Given the description of an element on the screen output the (x, y) to click on. 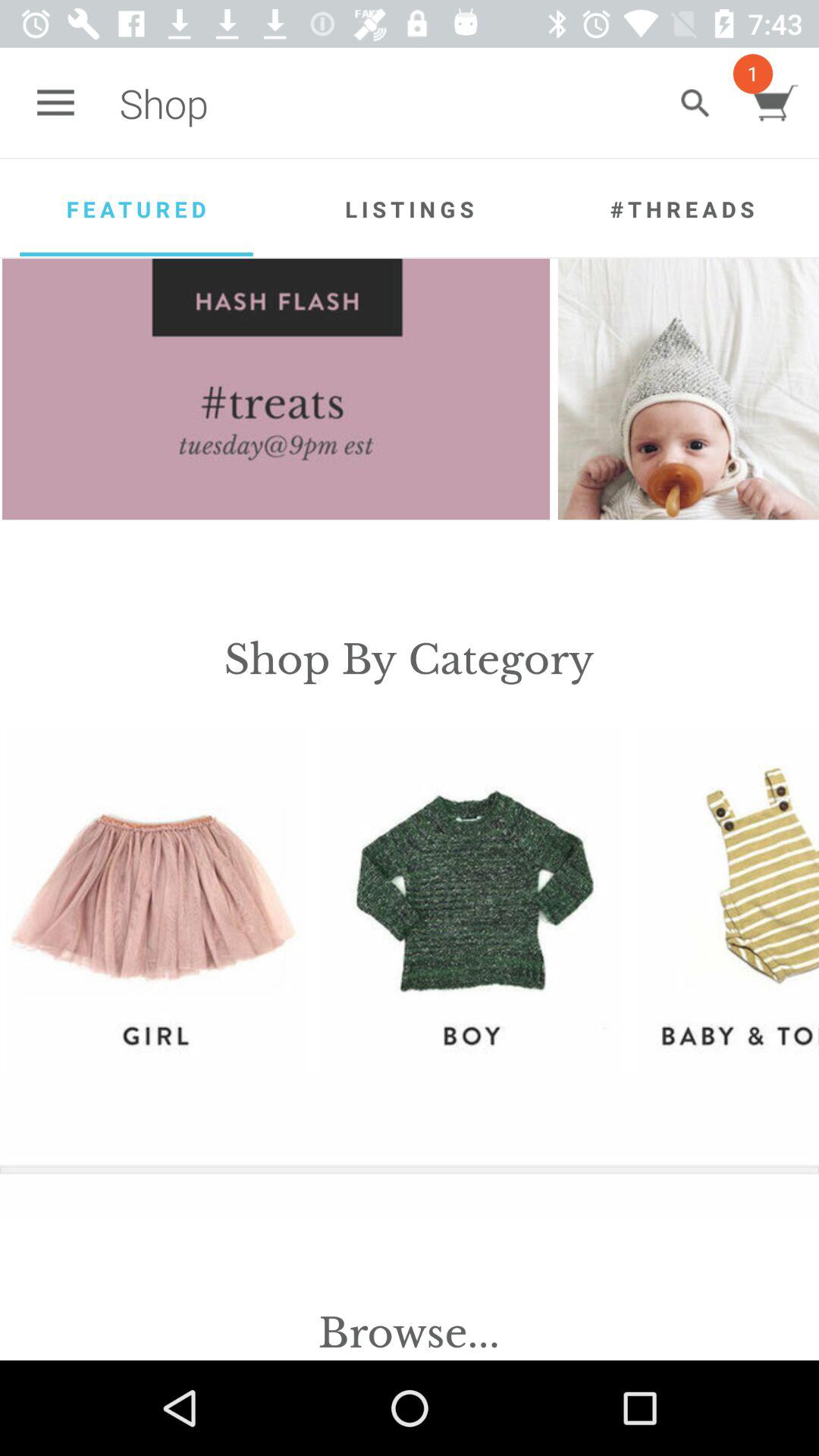
select girl category (154, 899)
